Given the description of an element on the screen output the (x, y) to click on. 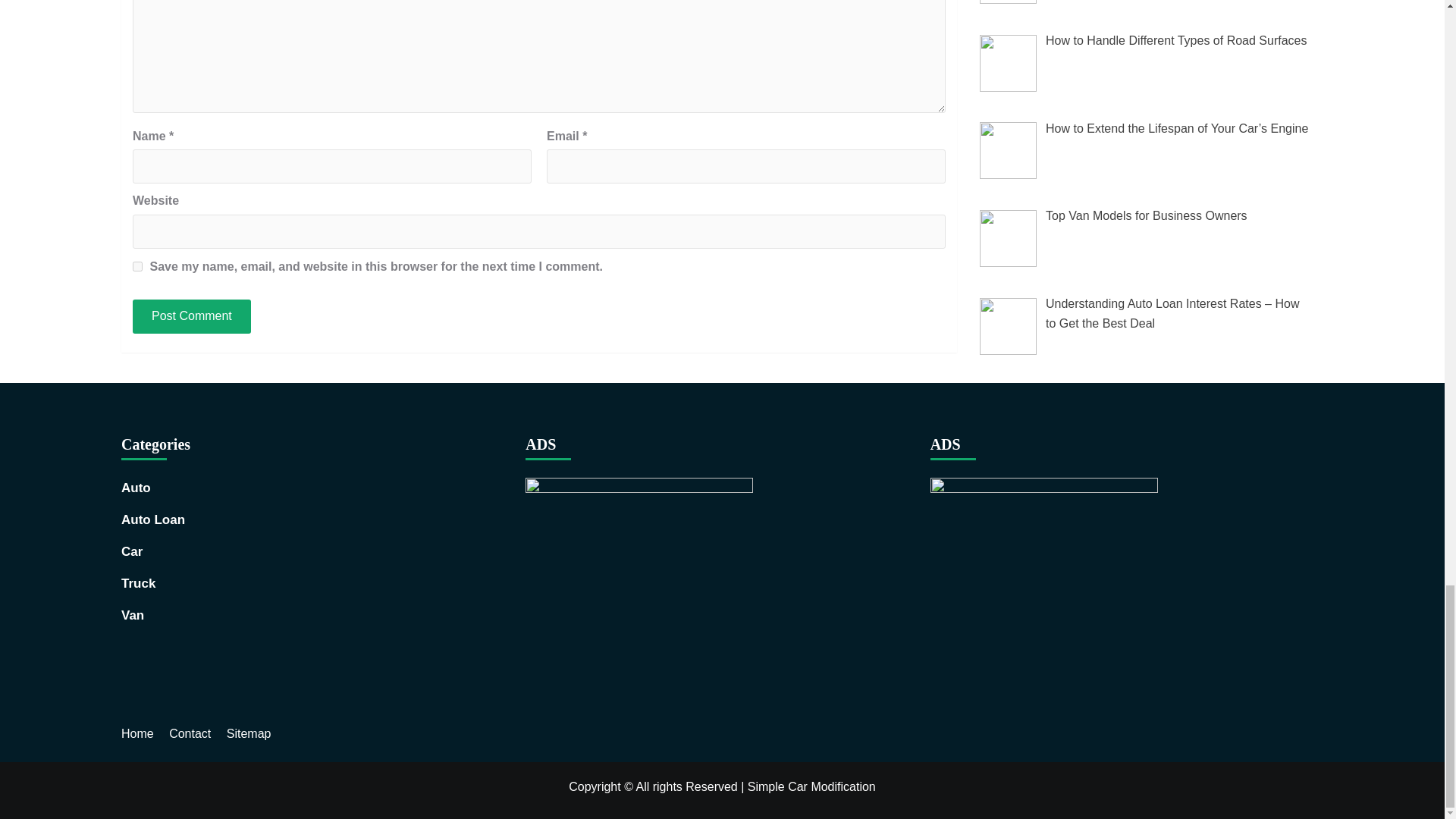
Post Comment (191, 316)
Post Comment (191, 316)
yes (137, 266)
